Given the description of an element on the screen output the (x, y) to click on. 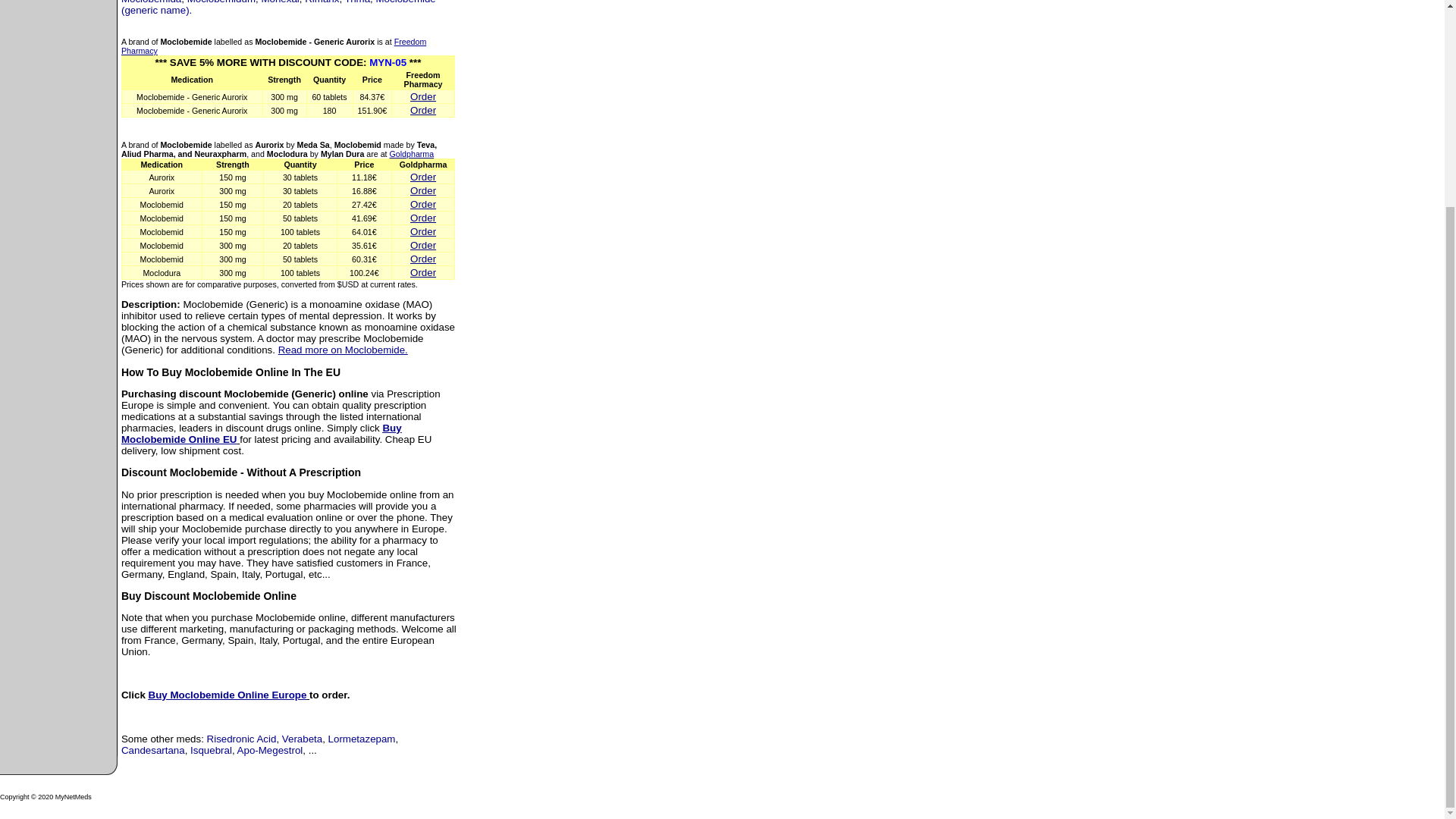
Mohexal (279, 2)
Order (422, 244)
Order (422, 96)
Rimarix (321, 2)
Lormetazepam (362, 738)
Buy Moclobemide Online EU (260, 433)
Order (422, 231)
Apo-Megestrol (269, 749)
Risedronic Acid (241, 738)
Freedom Pharmacy (273, 45)
Buy Moclobemide Online Europe (227, 695)
Order (422, 110)
Moclobemida (150, 2)
Order (422, 217)
Order (422, 258)
